Given the description of an element on the screen output the (x, y) to click on. 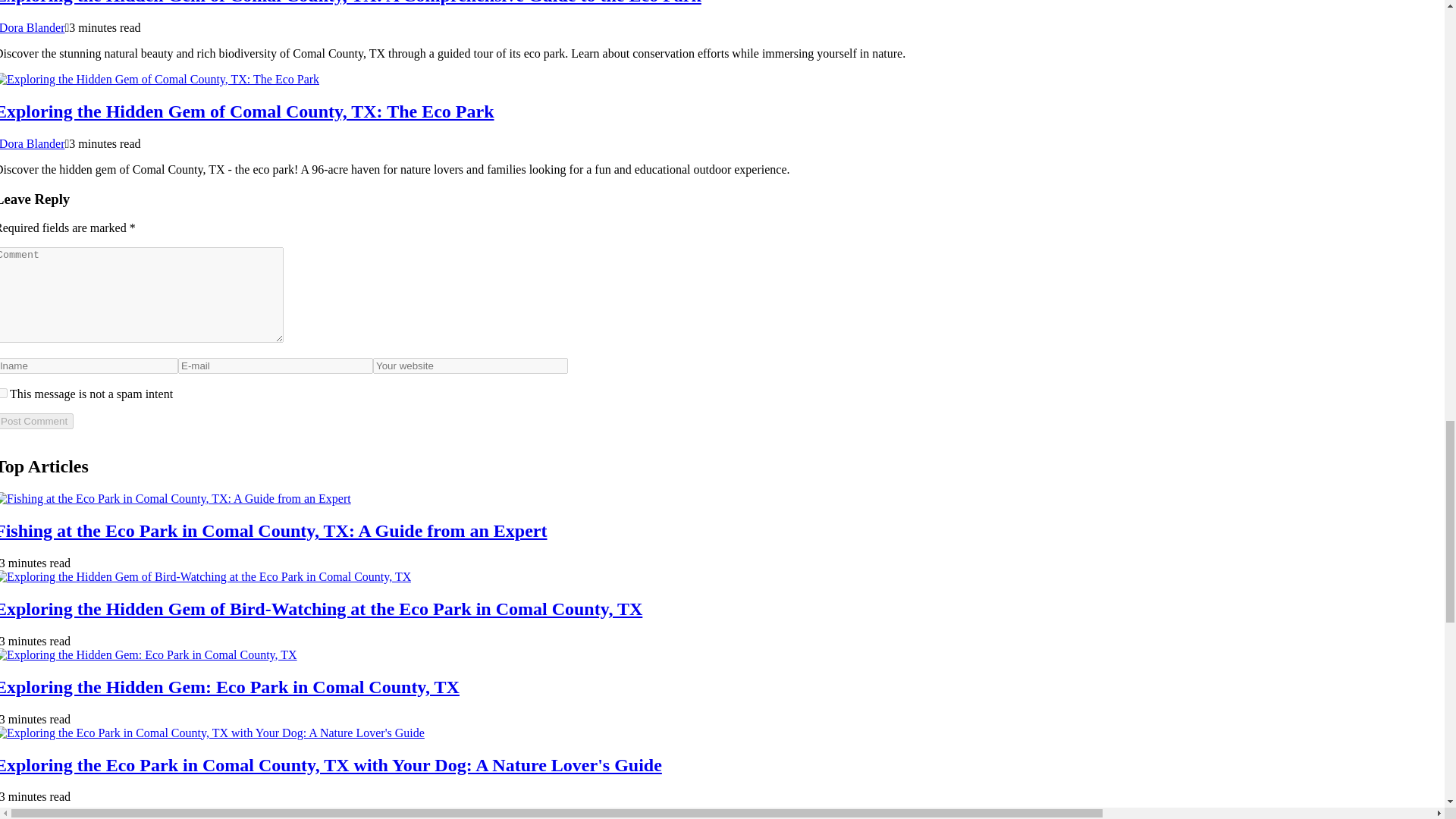
Posts by Dora Blander (32, 27)
Dora Blander (32, 27)
Posts by Dora Blander (32, 143)
Exploring the Hidden Gem of Comal County, TX: The Eco Park (247, 111)
Post Comment (37, 421)
